Given the description of an element on the screen output the (x, y) to click on. 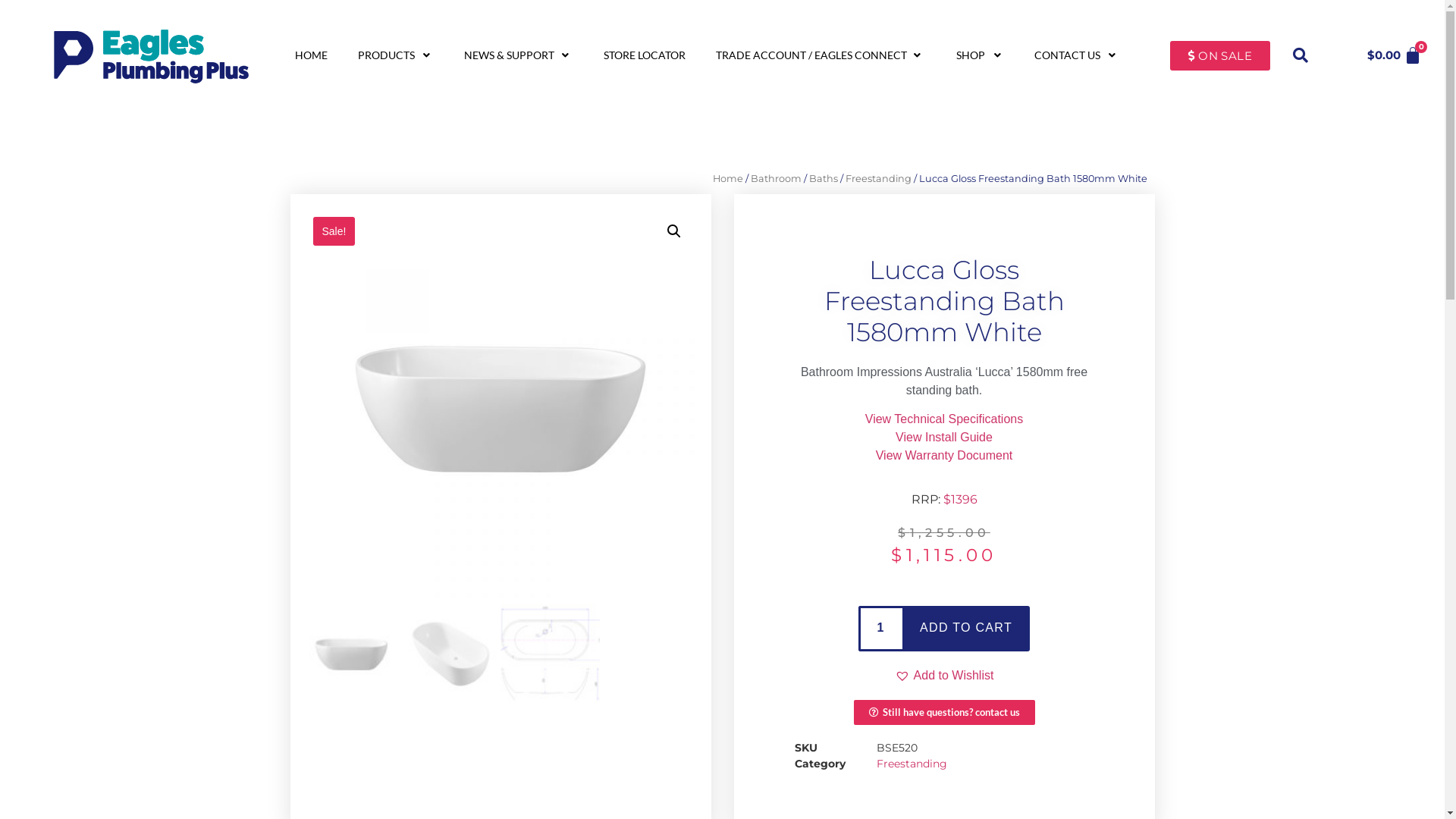
Bathroom Element type: text (775, 178)
CONTACT US Element type: text (1069, 55)
SHOP Element type: text (973, 55)
View Technical Specifications Element type: text (943, 418)
Home Element type: text (727, 178)
Freestanding Element type: text (877, 178)
Freestanding Element type: text (911, 763)
ON SALE Element type: text (1220, 55)
BSE520-BSE521-(2) Element type: hover (500, 404)
$0.00 Element type: text (1401, 55)
View Warranty Document Element type: text (944, 454)
STORE LOCATOR Element type: text (644, 55)
Still have questions? contact us Element type: text (944, 711)
NEWS & SUPPORT Element type: text (510, 55)
ADD TO CART Element type: text (965, 628)
Qty Element type: hover (880, 628)
Baths Element type: text (822, 178)
HOME Element type: text (310, 55)
1396 Element type: text (960, 499)
View Install Guide Element type: text (943, 436)
TRADE ACCOUNT / EAGLES CONNECT Element type: text (811, 55)
PRODUCTS Element type: text (387, 55)
Add to Wishlist Element type: text (944, 675)
